Given the description of an element on the screen output the (x, y) to click on. 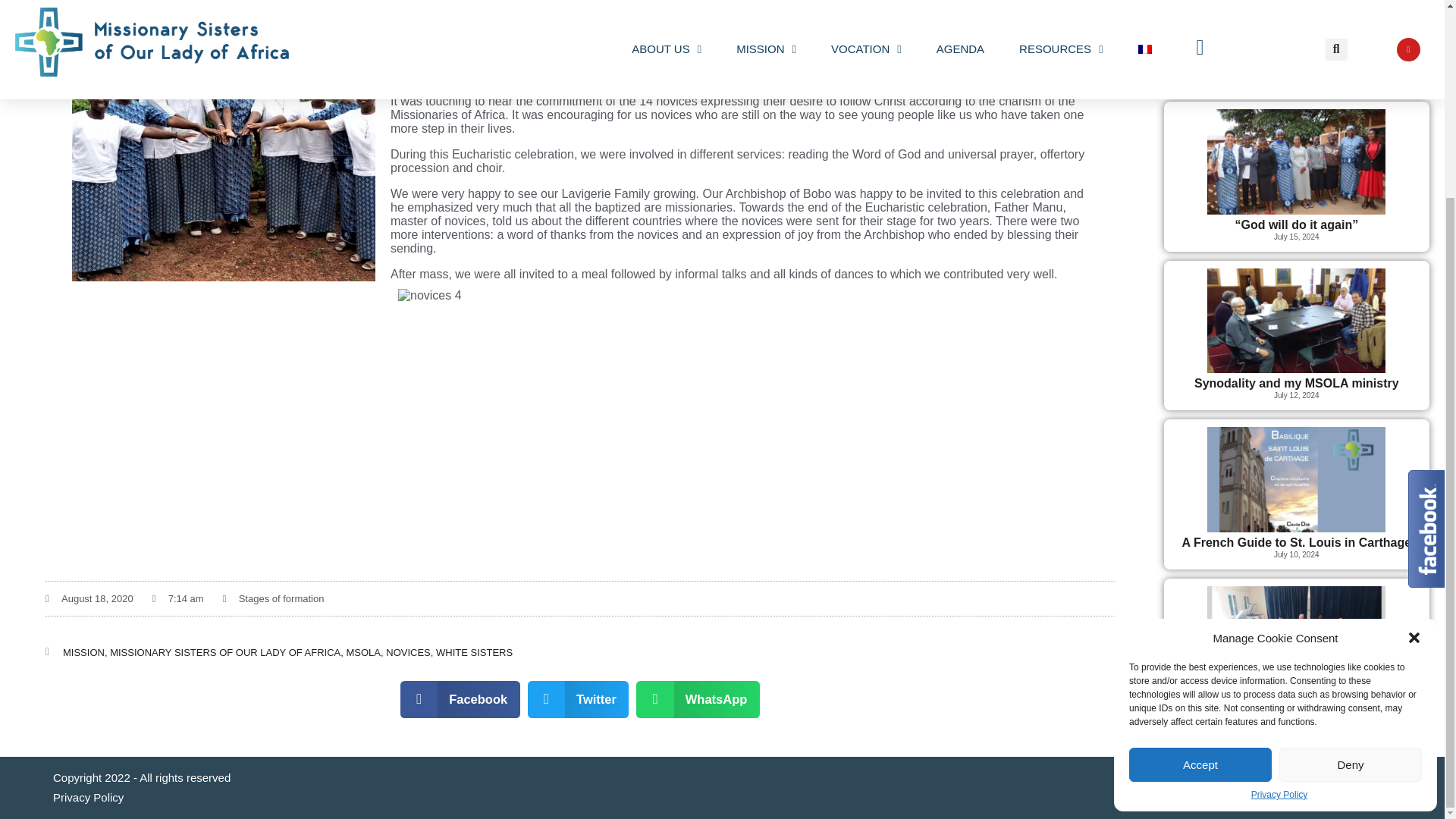
YouTube (1381, 777)
Accept (1200, 514)
Privacy Policy (1278, 543)
Deny (1350, 514)
Facebook (1358, 777)
